Given the description of an element on the screen output the (x, y) to click on. 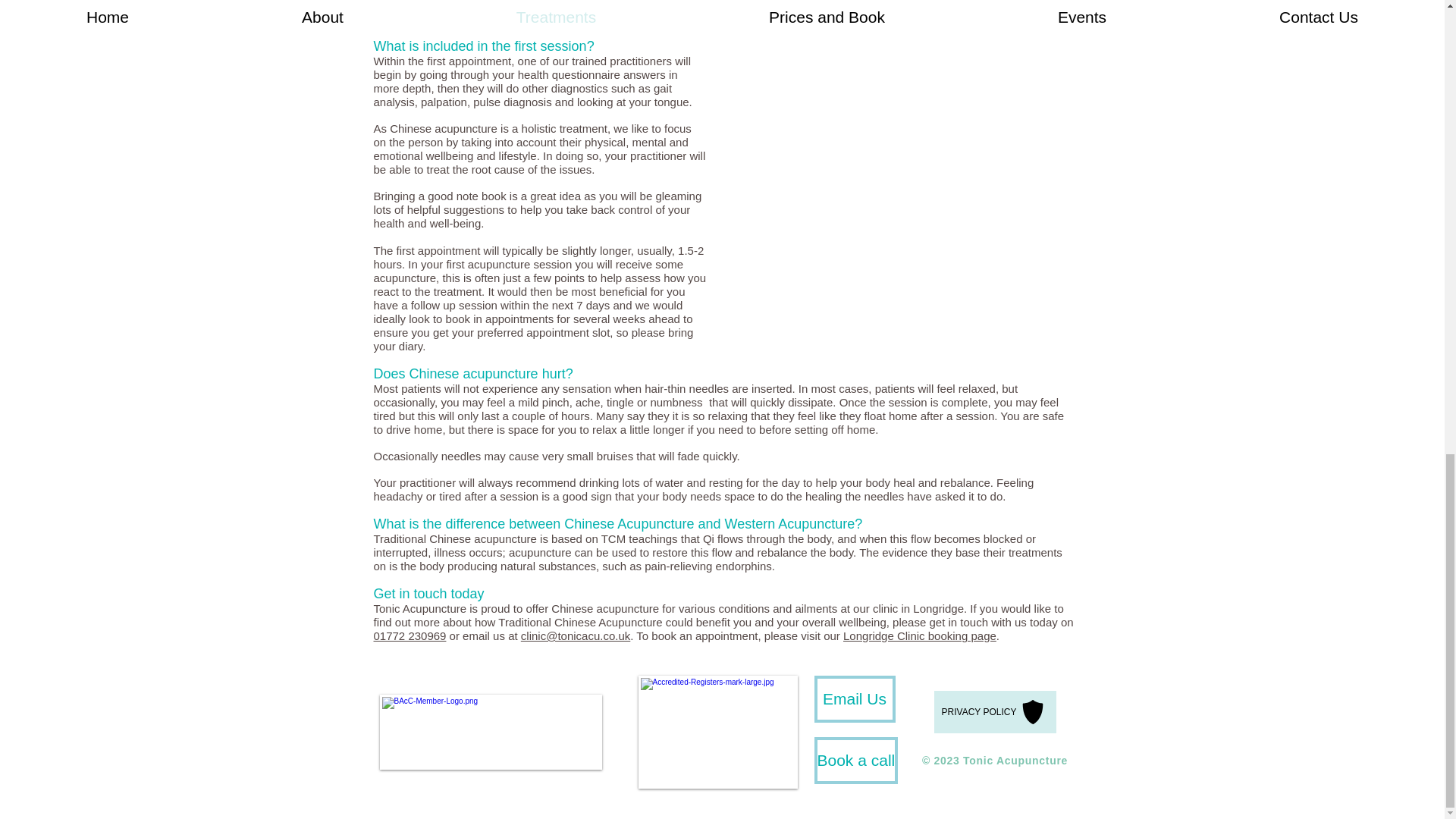
Email Us (854, 697)
Longridge Clinic booking page (919, 635)
Evidence Based Acupuncture (855, 6)
PRIVACY POLICY (995, 711)
Book a call (855, 760)
01772 230969 (408, 635)
